Given the description of an element on the screen output the (x, y) to click on. 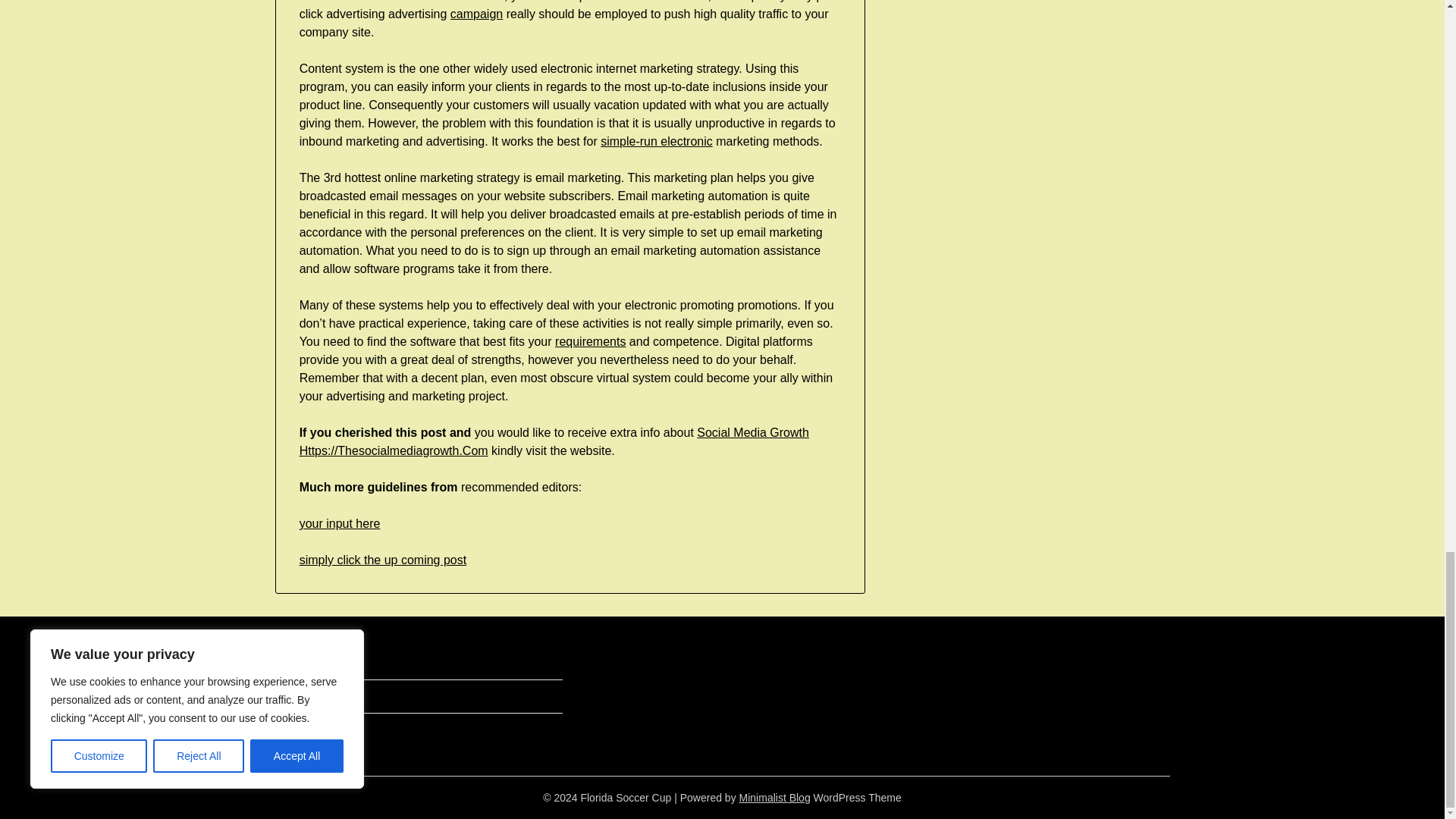
simple-run electronic (656, 141)
your input here (339, 522)
requirements (590, 341)
campaign (475, 13)
simply click the up coming post (383, 559)
